Given the description of an element on the screen output the (x, y) to click on. 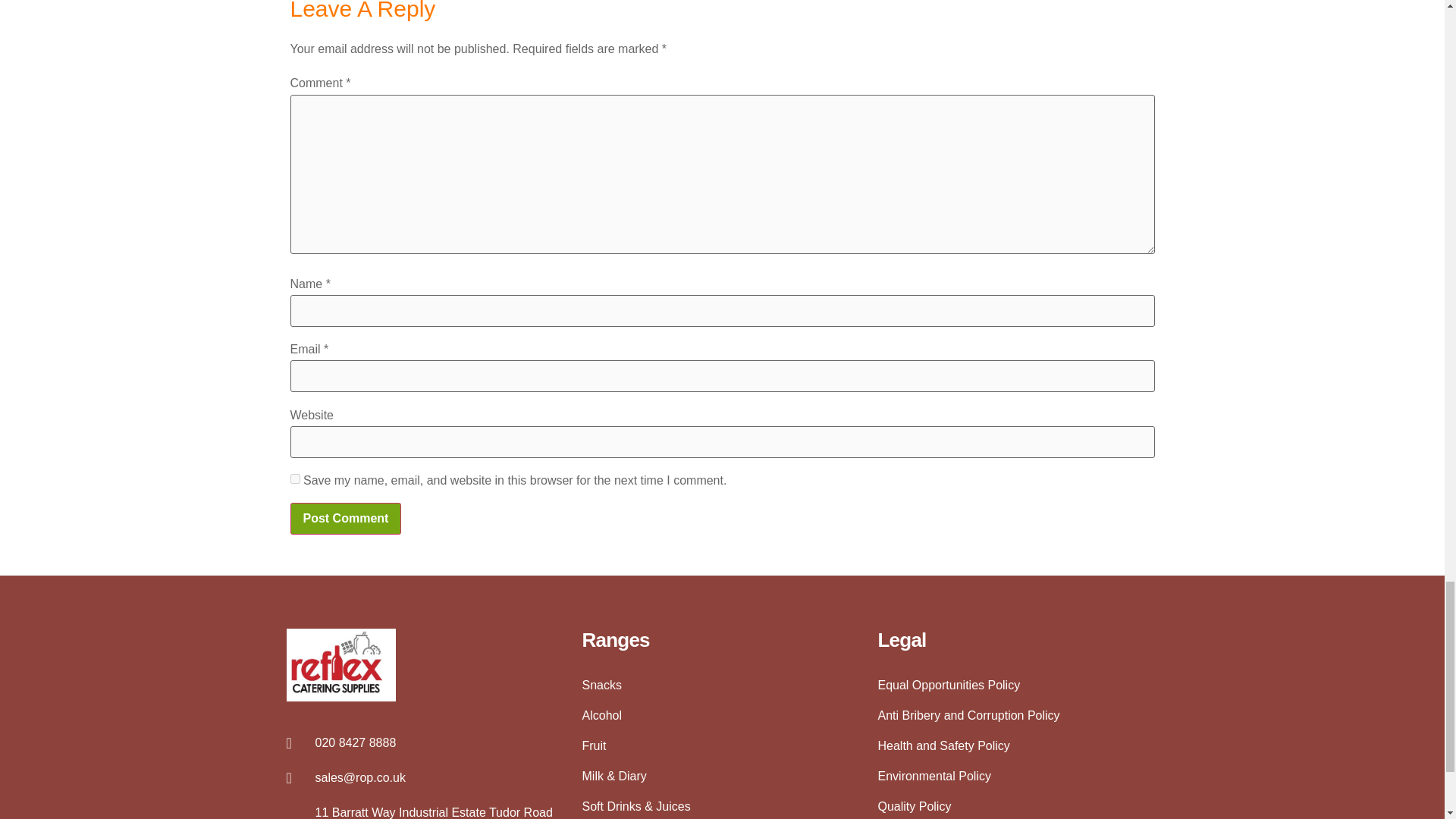
Post Comment (345, 518)
Post Comment (345, 518)
020 8427 8888 (426, 743)
yes (294, 479)
